Given the description of an element on the screen output the (x, y) to click on. 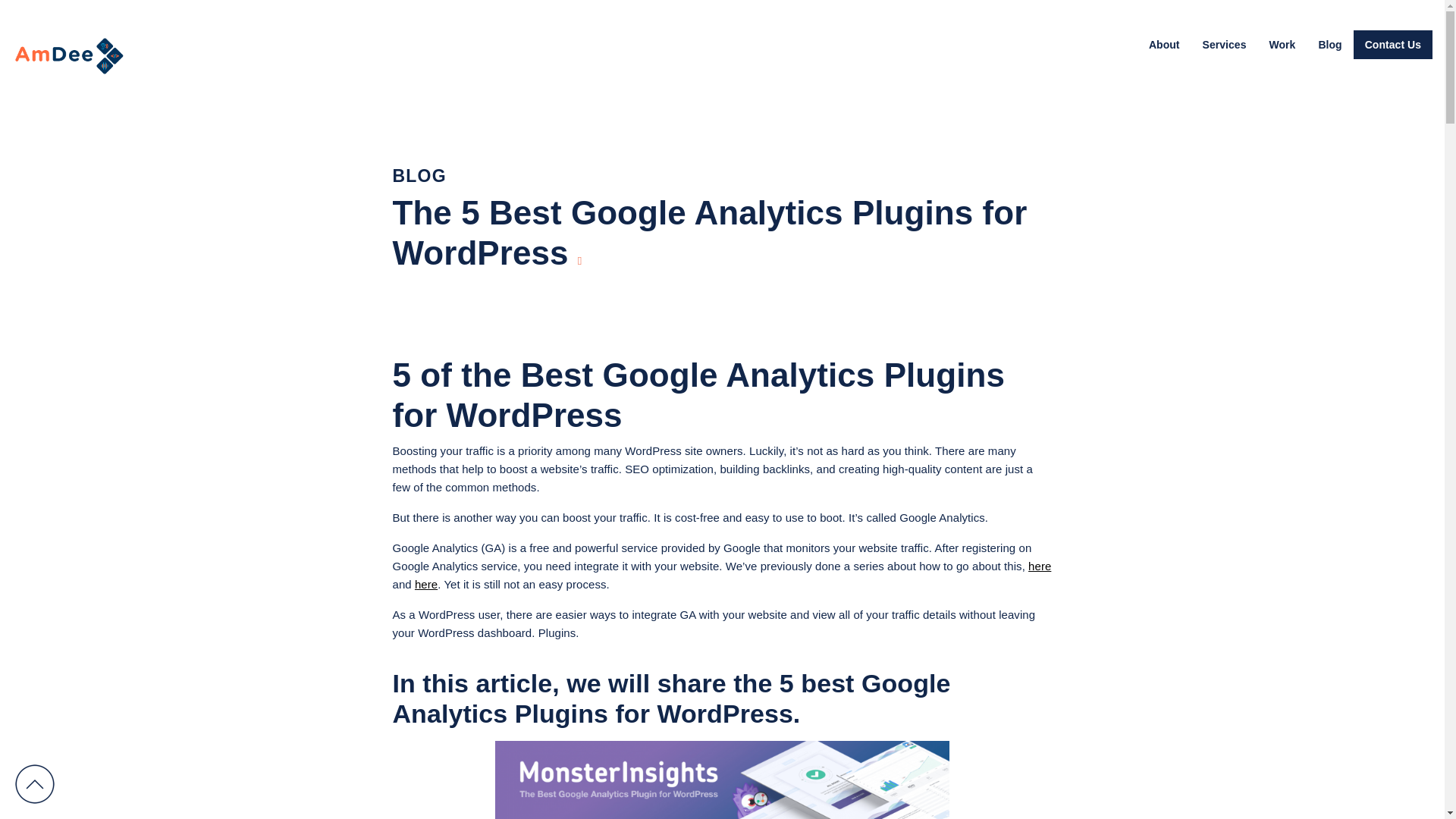
Blog (1329, 44)
Work (1282, 44)
here (1039, 565)
Contact Us (1393, 44)
About (1164, 44)
here (426, 584)
Services (1224, 44)
